Given the description of an element on the screen output the (x, y) to click on. 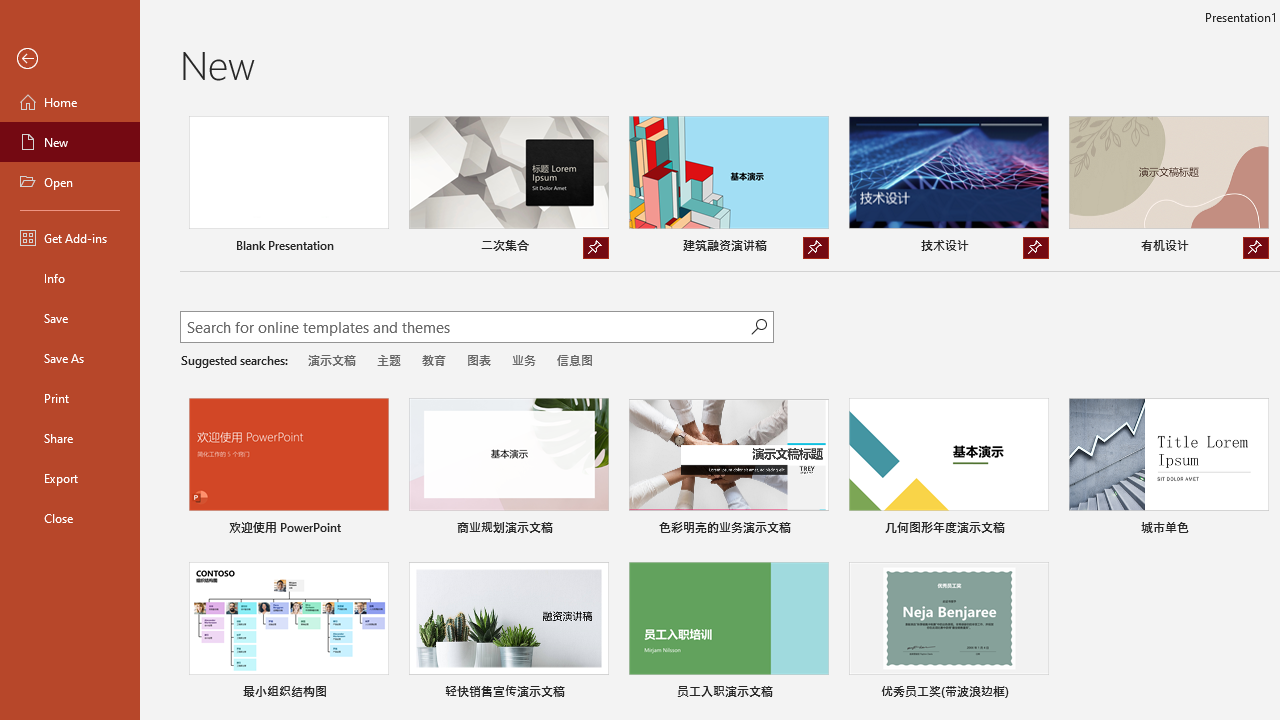
Print (69, 398)
New (69, 141)
Start searching (758, 326)
Back (69, 59)
Info (69, 277)
